Given the description of an element on the screen output the (x, y) to click on. 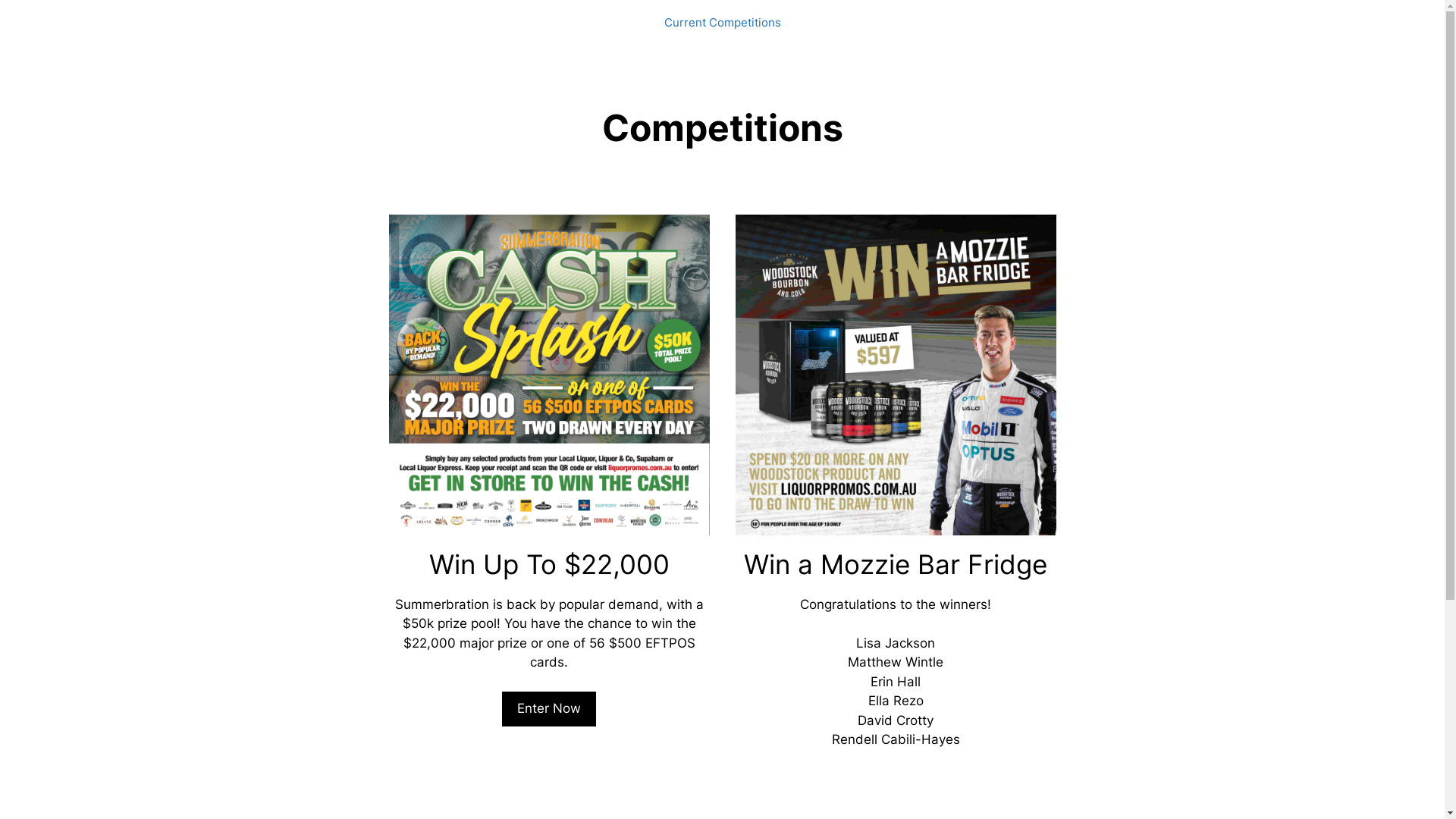
Current Competitions Element type: text (722, 22)
Enter Now Element type: text (549, 708)
